Given the description of an element on the screen output the (x, y) to click on. 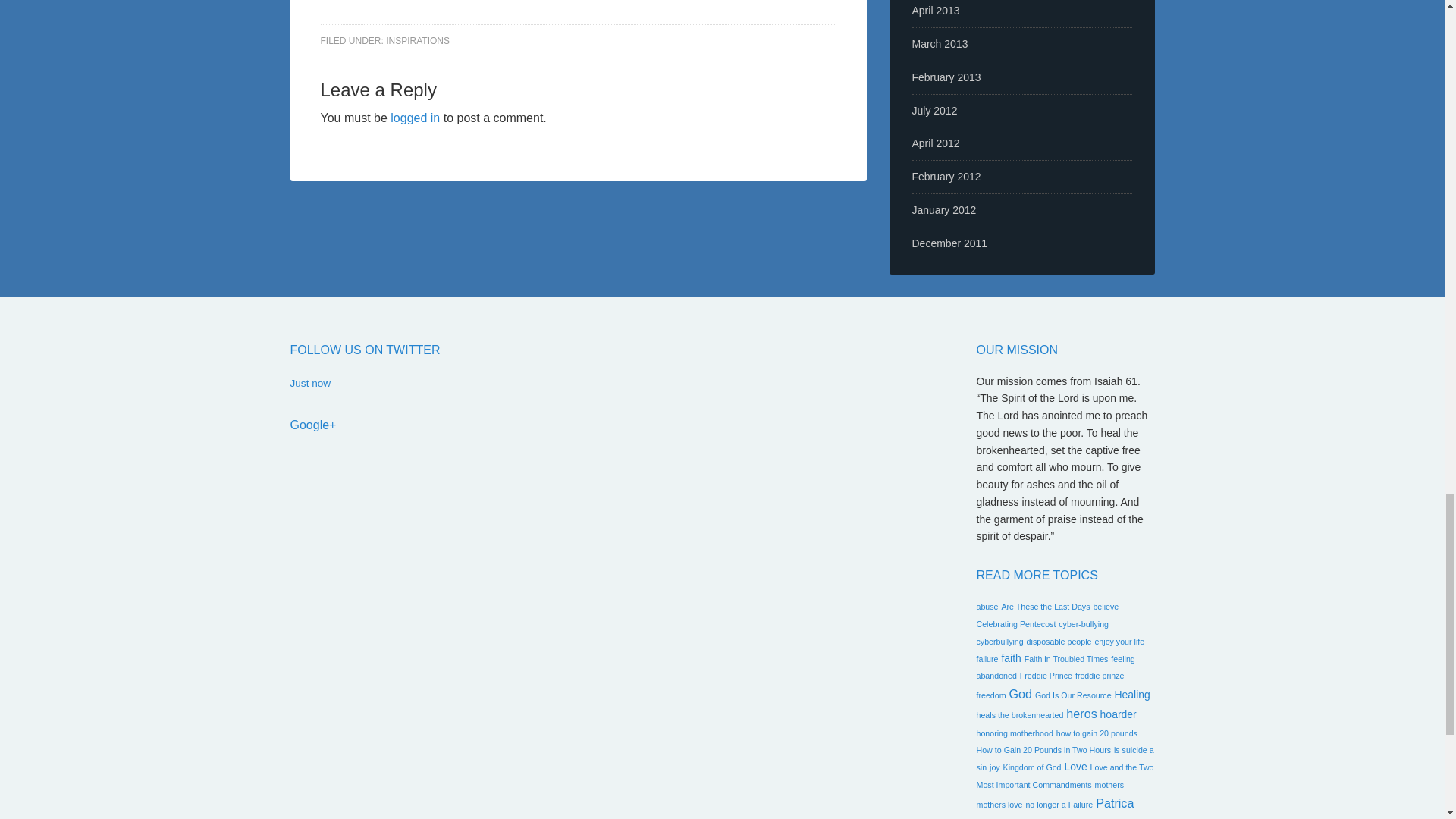
logged in (414, 117)
INSPIRATIONS (417, 40)
